Given the description of an element on the screen output the (x, y) to click on. 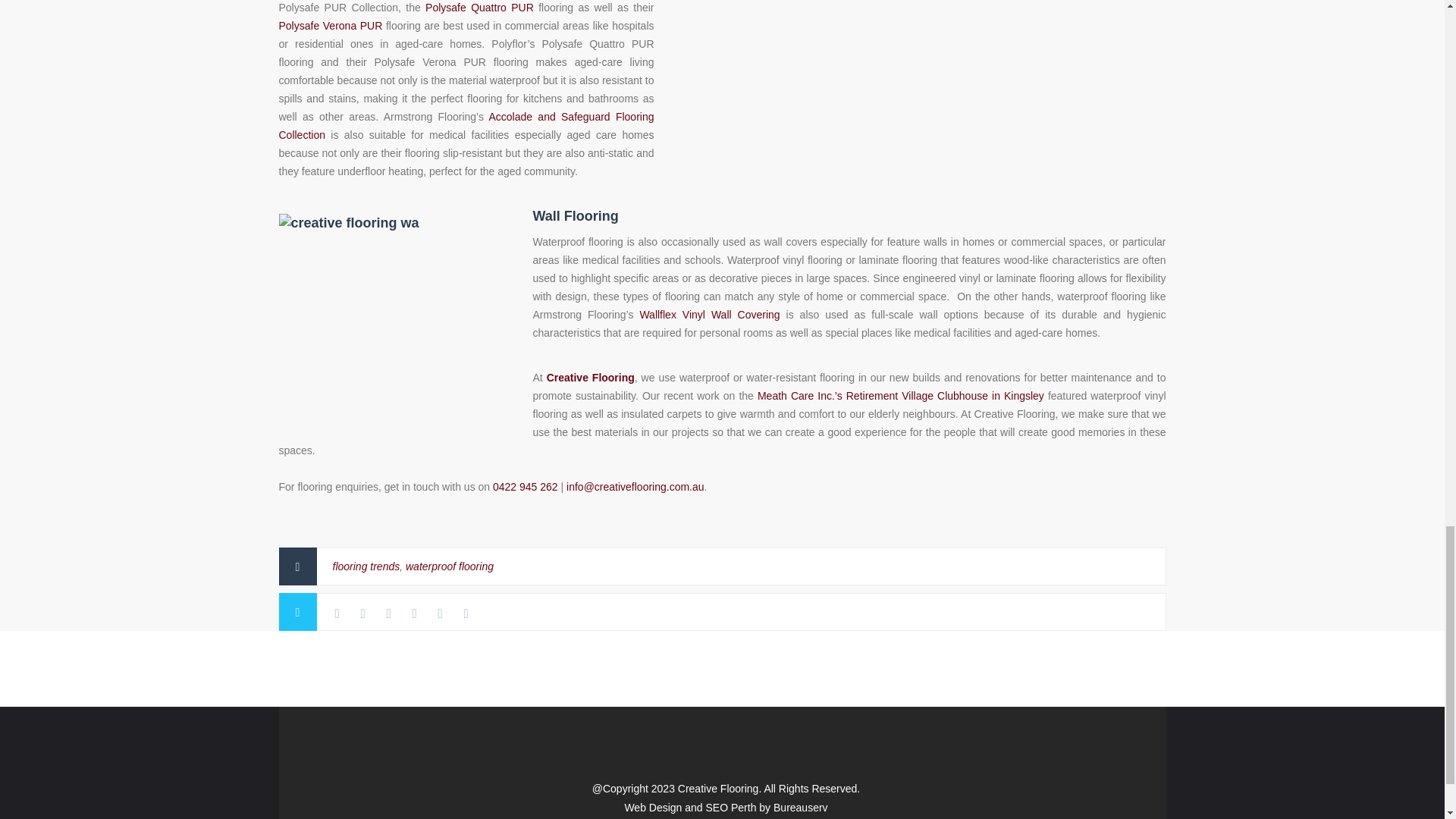
Polysafe Quattro PUR (479, 7)
Creative Flooring (590, 377)
flooring trends (364, 566)
0422 945 262 (525, 486)
waterproof flooring (449, 566)
Polysafe Verona PUR (330, 25)
Accolade and Safeguard Flooring Collection (466, 125)
Bureauserv (800, 807)
Wallflex Vinyl Wall Covering (708, 314)
